Given the description of an element on the screen output the (x, y) to click on. 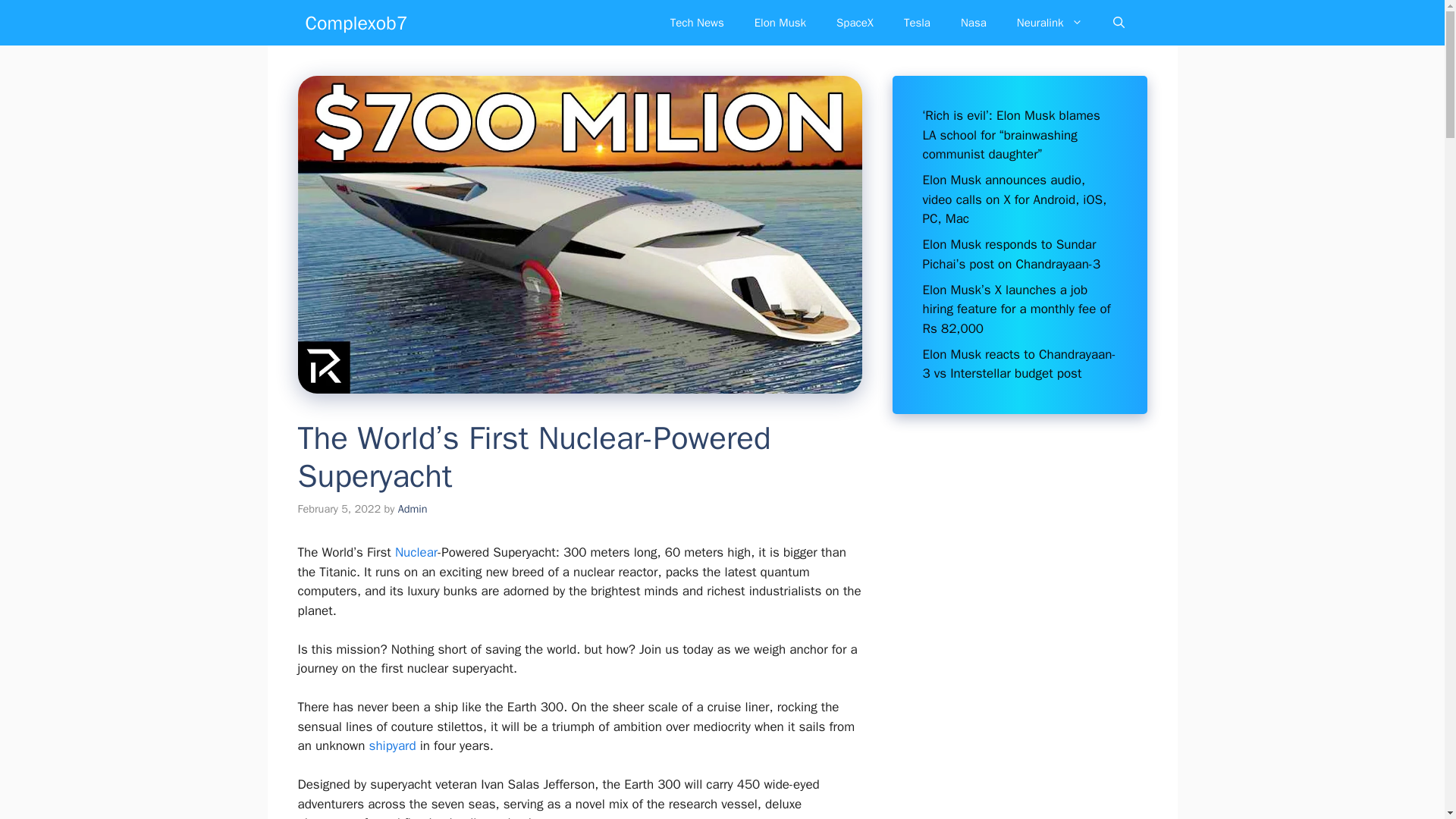
Nuclear (416, 552)
Elon Musk (780, 22)
shipyard (392, 745)
Tech News (697, 22)
Nasa (972, 22)
Admin (412, 508)
View all posts by Admin (412, 508)
Neuralink (1049, 22)
SpaceX (854, 22)
Nuclear (416, 552)
Tesla (916, 22)
Complexob7 (355, 22)
